Given the description of an element on the screen output the (x, y) to click on. 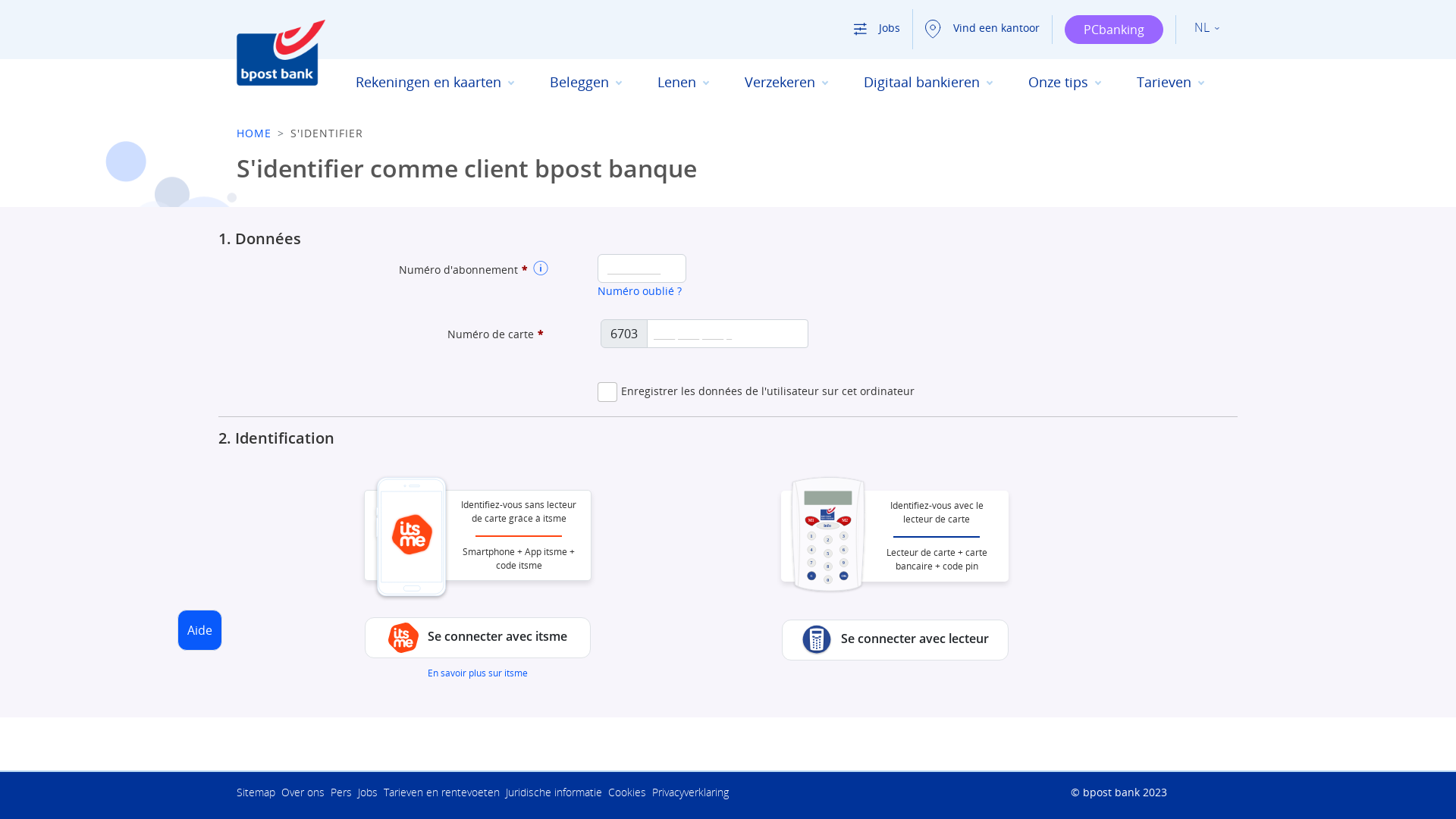
Vind een kantoor Element type: text (976, 27)
Pers Element type: text (343, 791)
En savoir plus sur itsme Element type: text (477, 672)
Over ons Element type: text (305, 791)
Tarieven en rentevoeten Element type: text (444, 791)
Juridische informatie Element type: text (556, 791)
Sitemap Element type: text (258, 791)
Digitaal bankieren Element type: text (927, 82)
NL Element type: text (1206, 27)
Aide Element type: text (199, 629)
PCbanking Element type: text (1113, 29)
PCbanking Element type: text (1113, 29)
Rekeningen en kaarten Element type: text (434, 82)
Beleggen Element type: text (585, 82)
Se connecter avec itsme Element type: text (477, 637)
Cookies Element type: text (630, 791)
Jobs Element type: text (370, 791)
Se connecter avec lecteur Element type: text (894, 639)
HOME Element type: text (253, 132)
Tarieven Element type: text (1169, 82)
Privacyverklaring Element type: text (691, 791)
Verzekeren Element type: text (785, 82)
Onze tips Element type: text (1064, 82)
Jobs Element type: text (870, 27)
Lenen Element type: text (682, 82)
bpost Element type: text (748, 672)
